Given the description of an element on the screen output the (x, y) to click on. 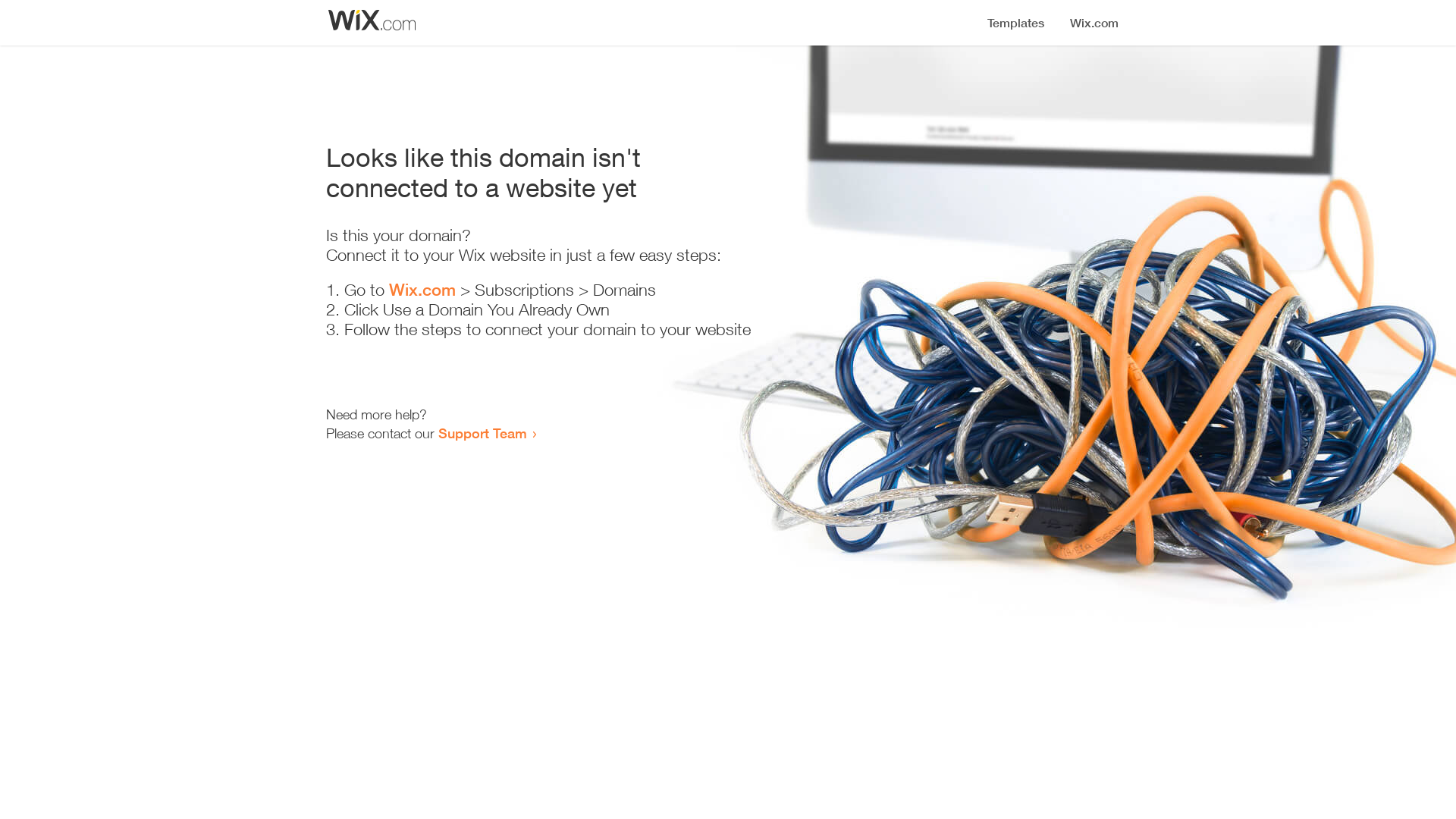
Wix.com Element type: text (422, 289)
Support Team Element type: text (482, 432)
